Given the description of an element on the screen output the (x, y) to click on. 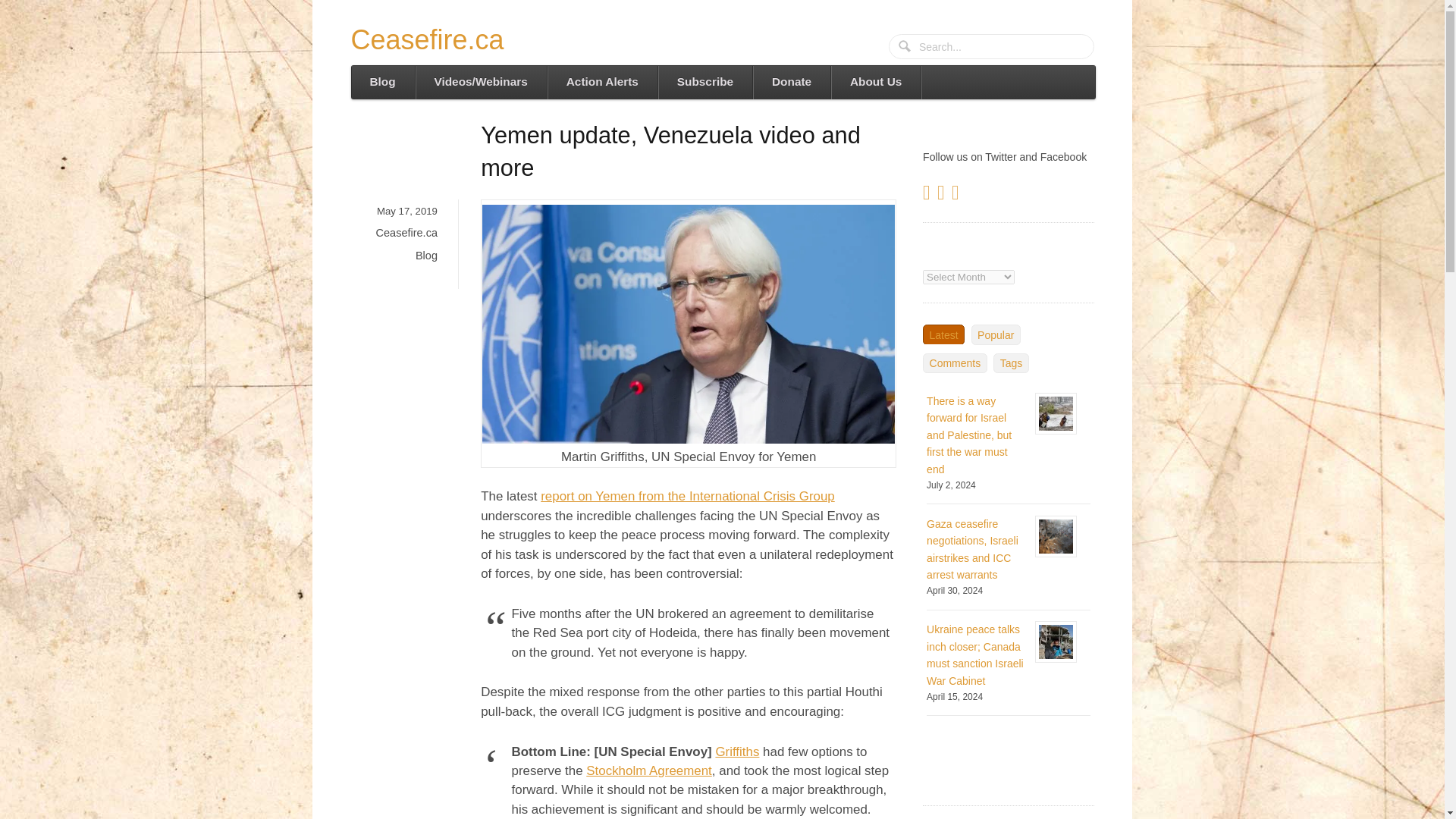
Facebook (943, 195)
Stockholm Agreement (648, 770)
Search (906, 47)
About Us (875, 82)
Ceasefire.ca (426, 39)
Action Alerts (602, 82)
Posts by Ceasefire.ca (406, 232)
Ceasefire.ca (406, 232)
report on Yemen from the International Crisis Group (687, 495)
Donate (790, 82)
Blog (381, 82)
Search (906, 47)
